Given the description of an element on the screen output the (x, y) to click on. 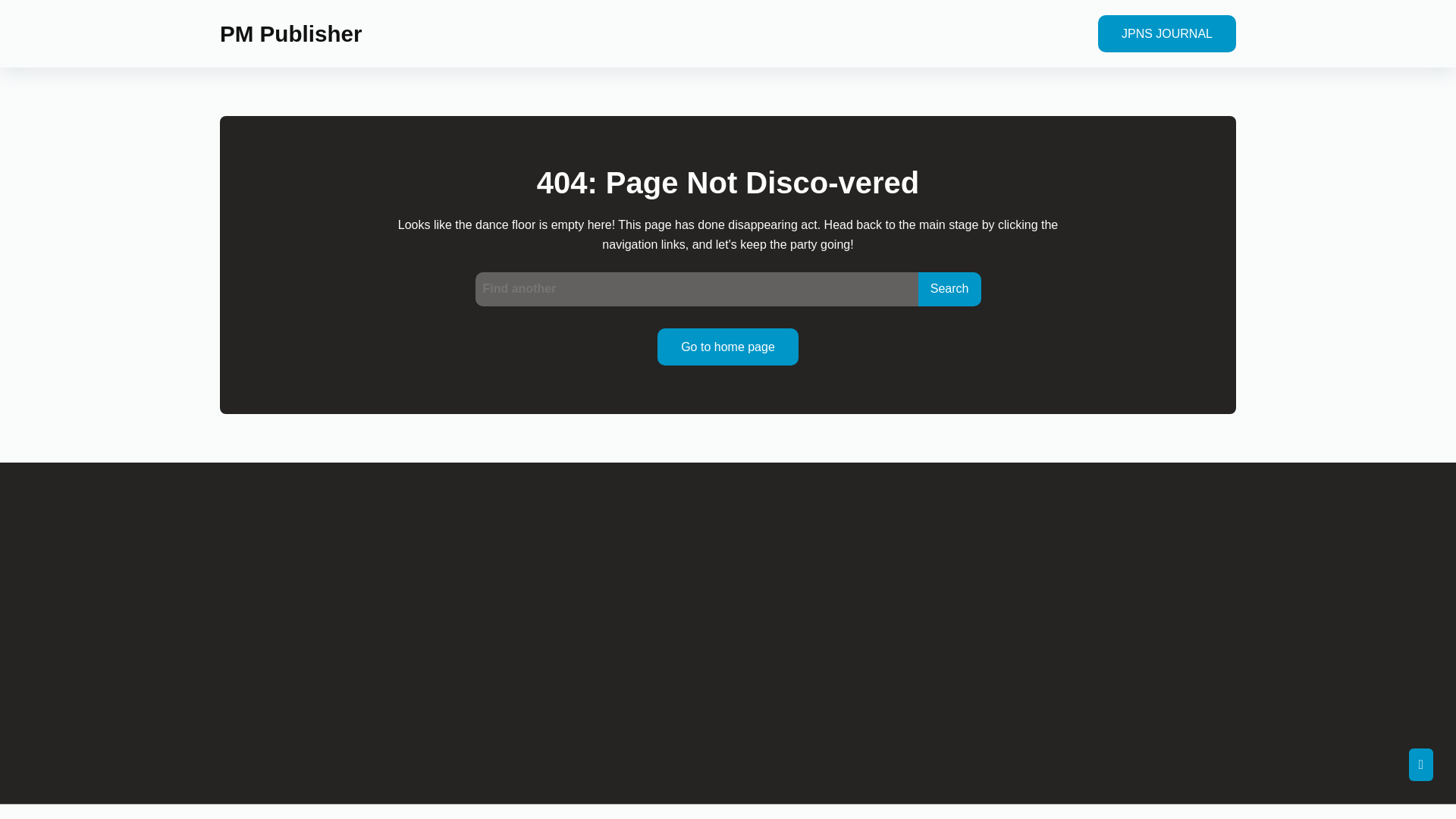
PM Publisher (290, 33)
JPNS JOURNAL (1166, 33)
Go to home page (727, 346)
Search (949, 288)
